Given the description of an element on the screen output the (x, y) to click on. 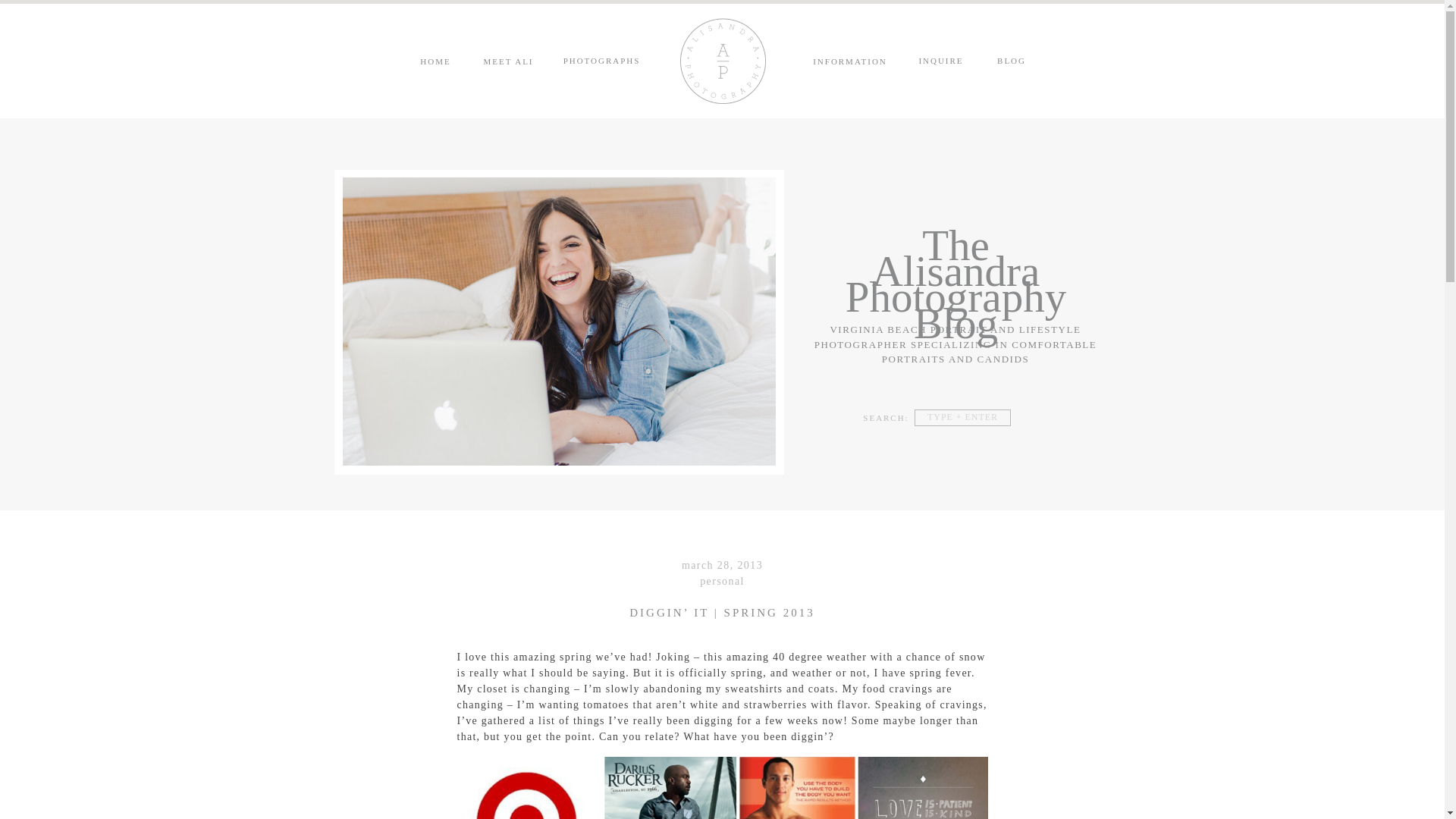
HOME (435, 61)
INFORMATION (849, 61)
BLOG (1011, 61)
PHOTOGRAPHS (601, 61)
INQUIRE (940, 61)
personal (722, 581)
MEET ALI (508, 61)
